Given the description of an element on the screen output the (x, y) to click on. 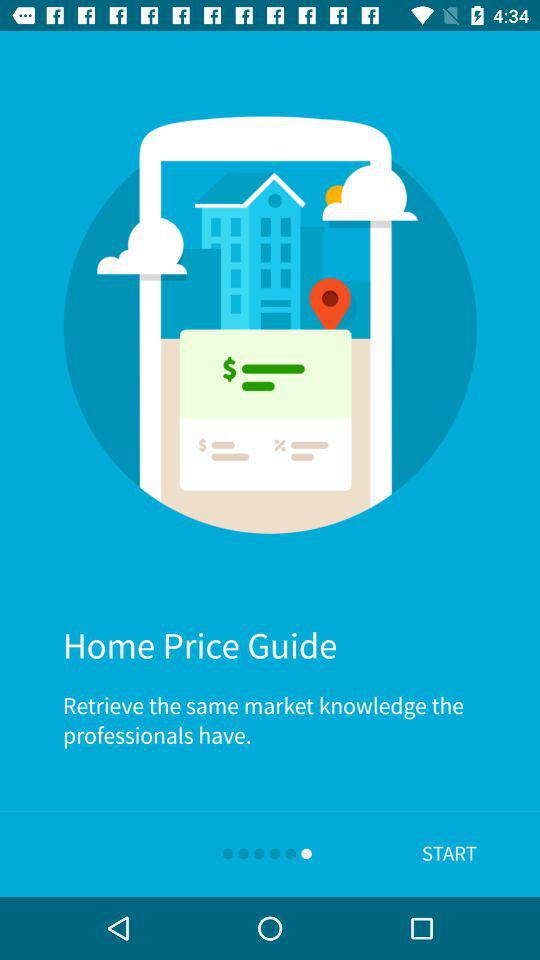
flip until the start item (449, 853)
